Given the description of an element on the screen output the (x, y) to click on. 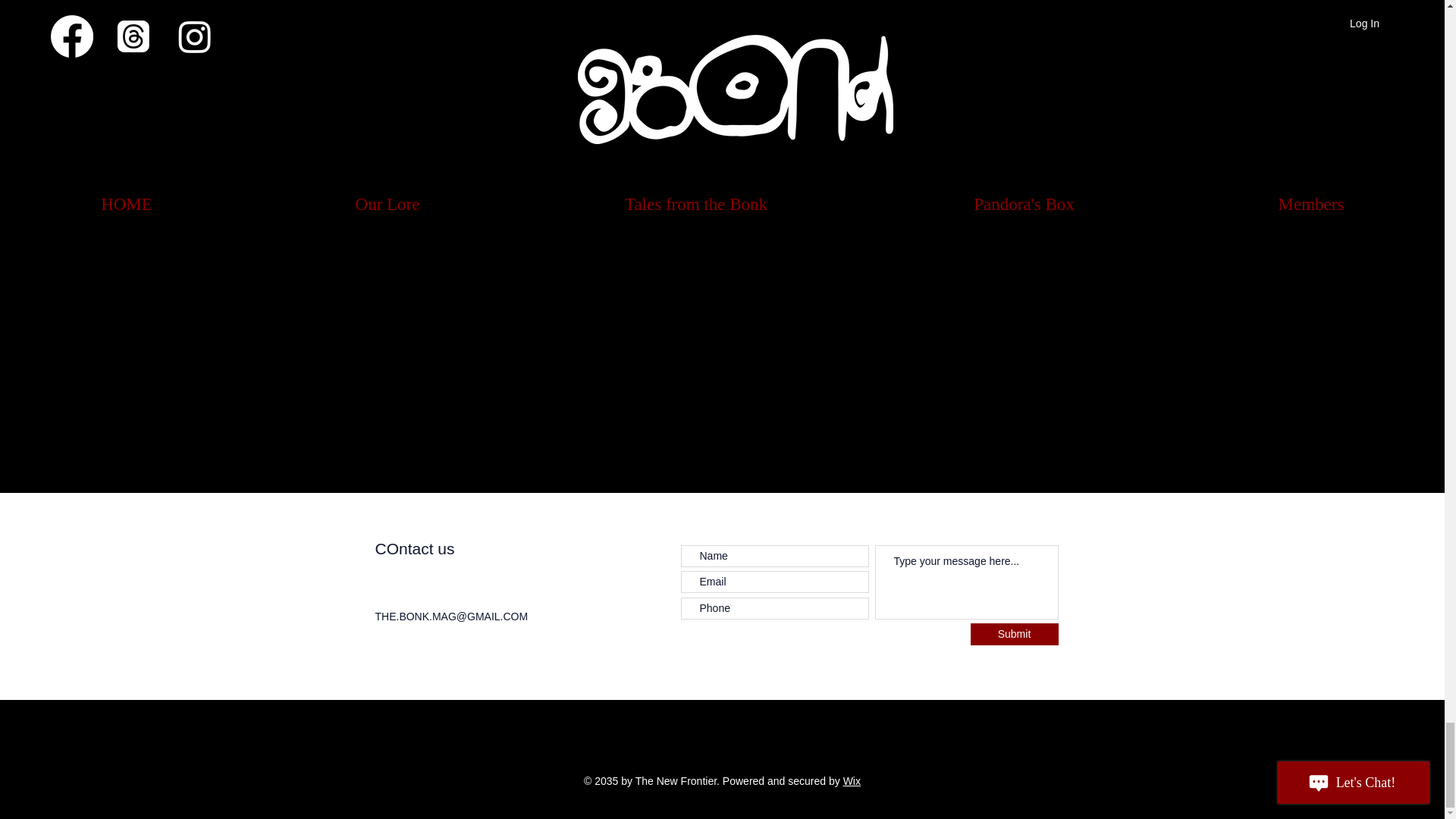
Submit (1014, 634)
Wix (851, 780)
